Given the description of an element on the screen output the (x, y) to click on. 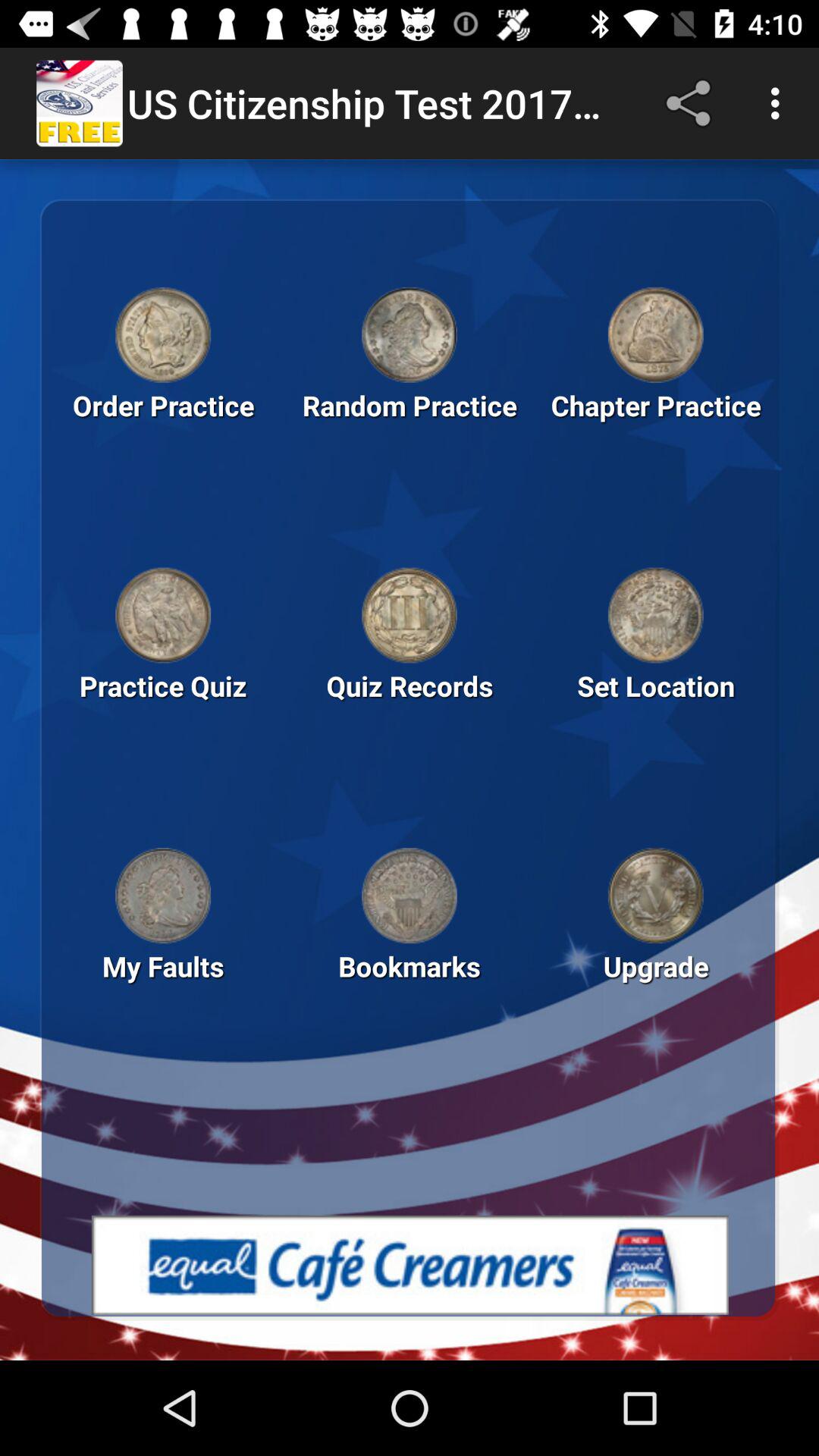
view bookmarks (409, 895)
